Given the description of an element on the screen output the (x, y) to click on. 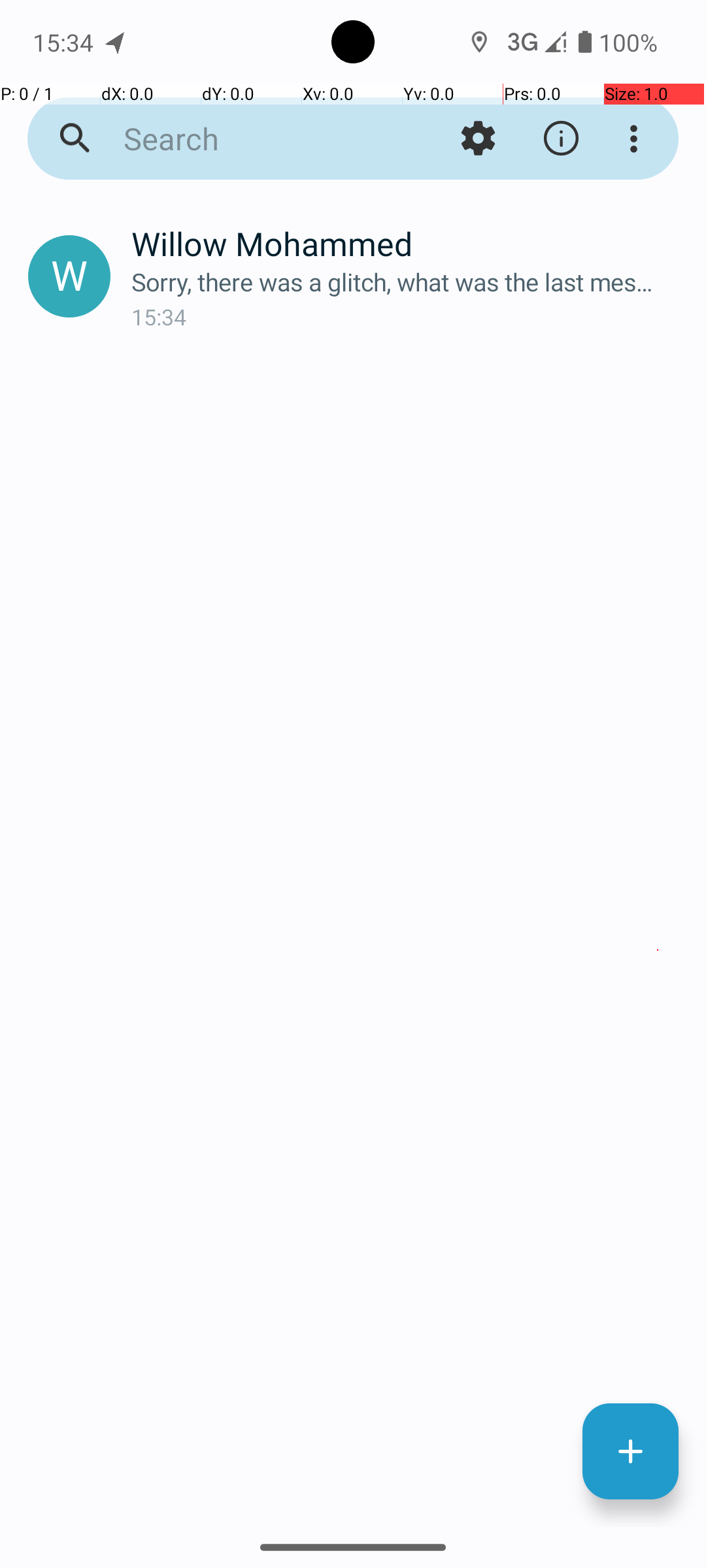
Willow Mohammed Element type: android.widget.TextView (408, 242)
Sorry, there was a glitch, what was the last message you sent me? Element type: android.widget.TextView (408, 281)
